Given the description of an element on the screen output the (x, y) to click on. 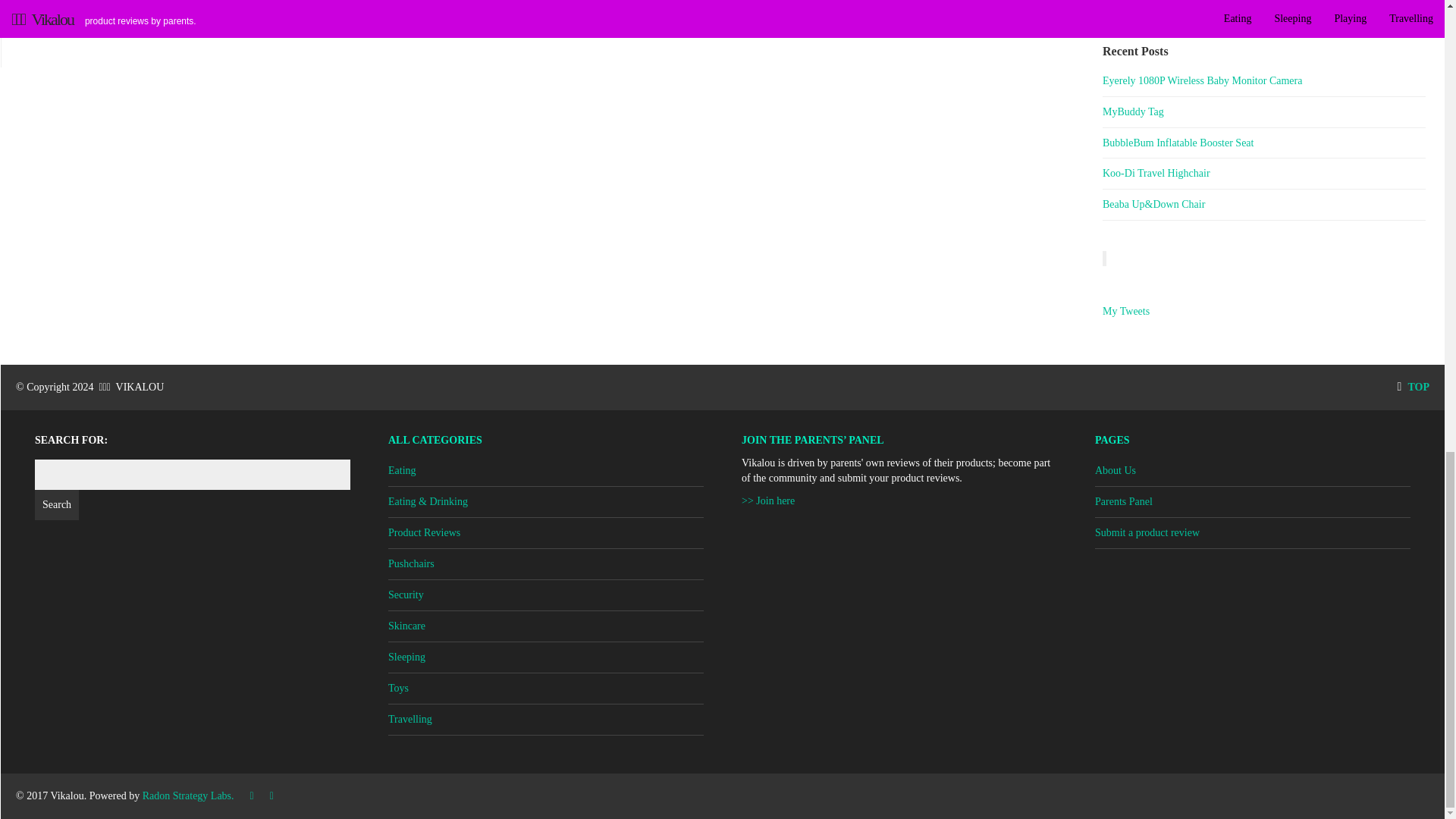
BubbleBum Inflatable Booster Seat (1263, 142)
MyBuddy Tag (1263, 112)
Koo-Di Travel Highchair (1263, 173)
Eyerely 1080P Wireless Baby Monitor Camera (1263, 81)
Search (56, 504)
